Given the description of an element on the screen output the (x, y) to click on. 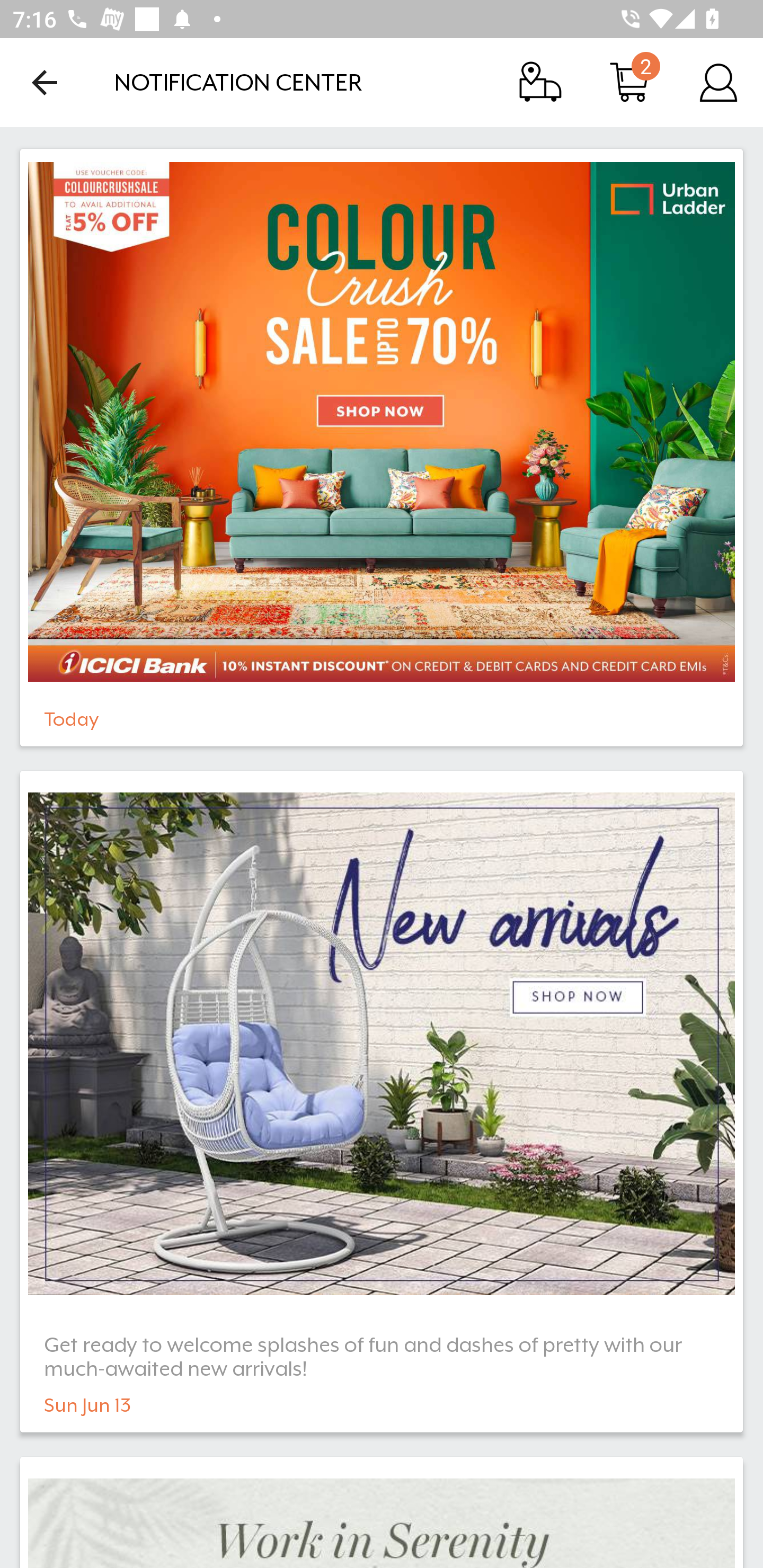
Navigate up (44, 82)
Track Order (540, 81)
Cart (629, 81)
Account Details (718, 81)
Today (381, 447)
